Given the description of an element on the screen output the (x, y) to click on. 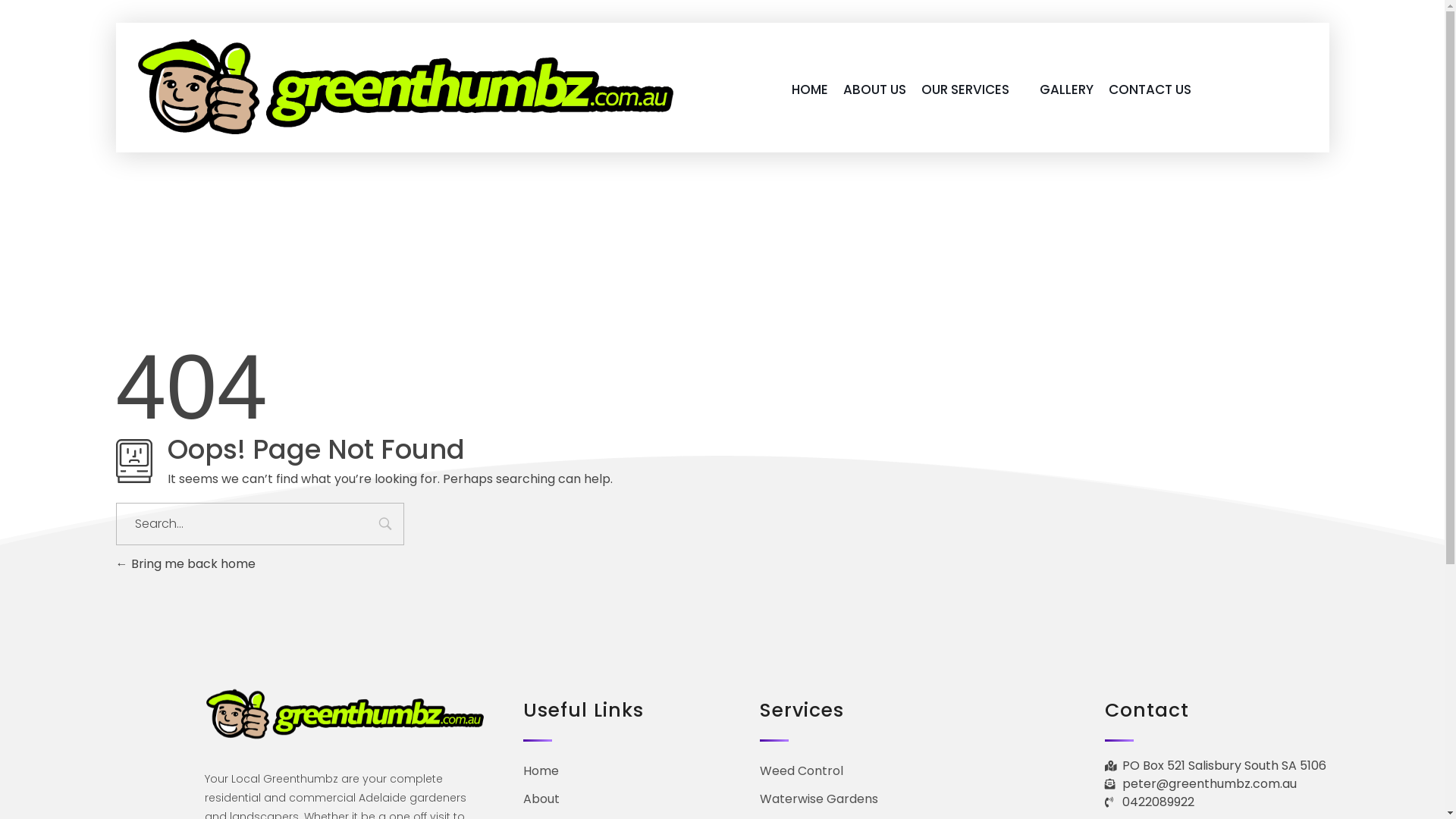
Your Local Greenthumbz Gardeners Landscapers Element type: text (347, 144)
ABOUT US Element type: text (874, 89)
HOME Element type: text (809, 89)
Search Element type: text (385, 525)
Your Local Greenthumbz Gardeners Landscapers Element type: hover (405, 86)
OUR SERVICES Element type: text (972, 89)
Waterwise Gardens Element type: text (818, 798)
About Element type: text (541, 798)
Bring me back home Element type: text (184, 563)
Weed Control Element type: text (801, 770)
GALLERY Element type: text (1066, 89)
CONTACT US Element type: text (1149, 89)
Home Element type: text (540, 770)
